Given the description of an element on the screen output the (x, y) to click on. 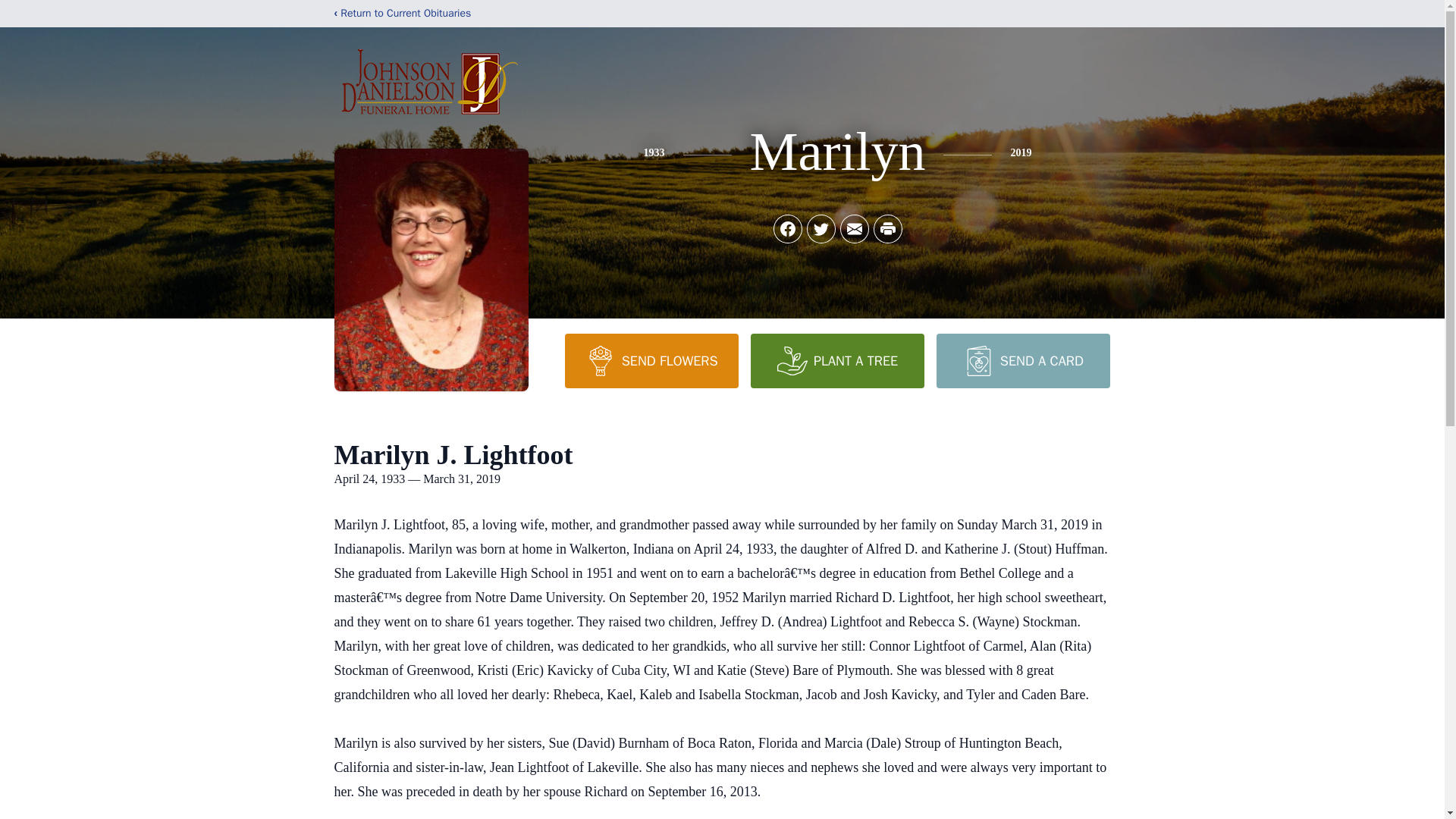
SEND FLOWERS (651, 360)
PLANT A TREE (837, 360)
SEND A CARD (1022, 360)
